Given the description of an element on the screen output the (x, y) to click on. 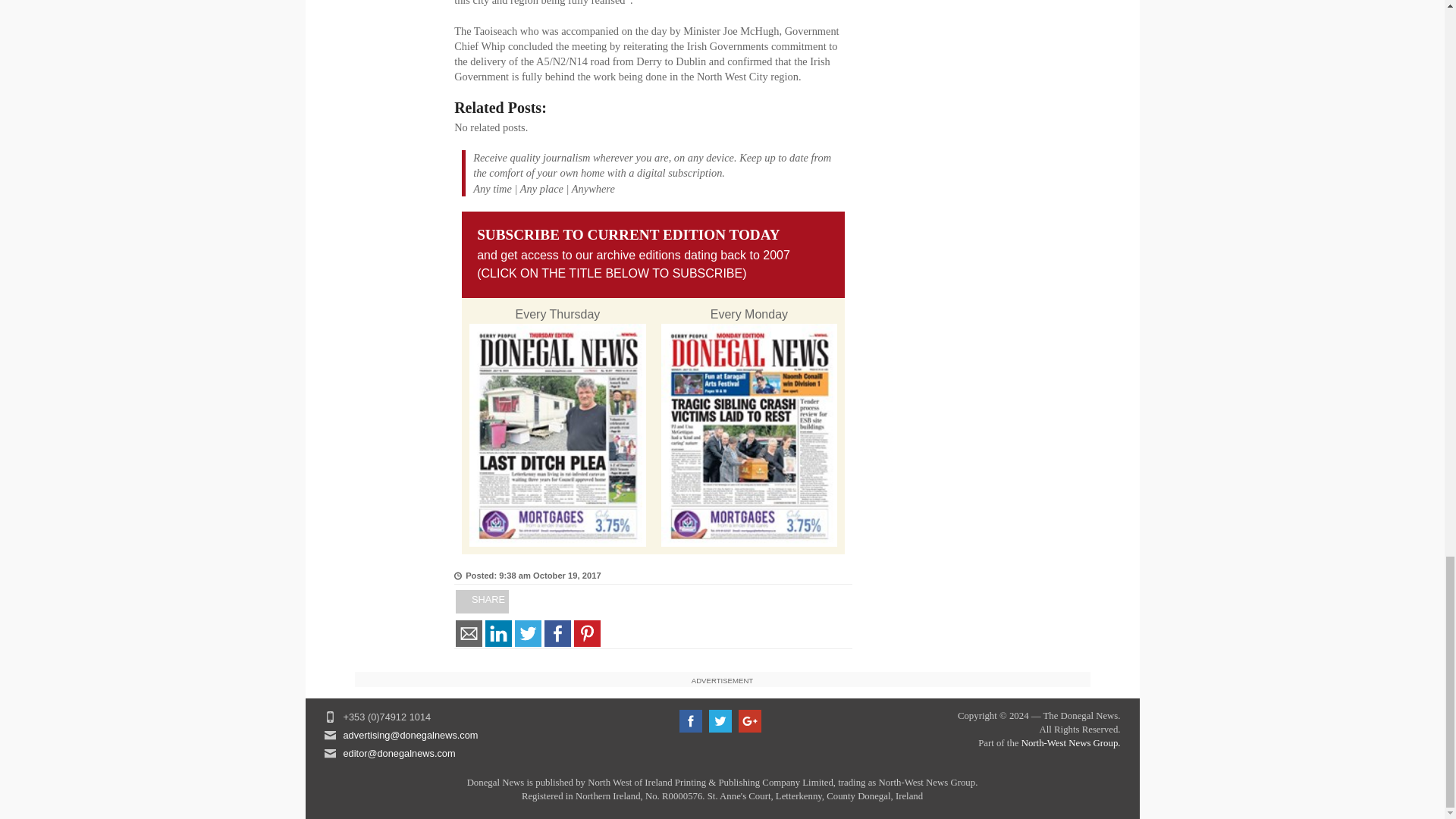
email (468, 633)
twitter (528, 633)
linkedin (498, 633)
